Given the description of an element on the screen output the (x, y) to click on. 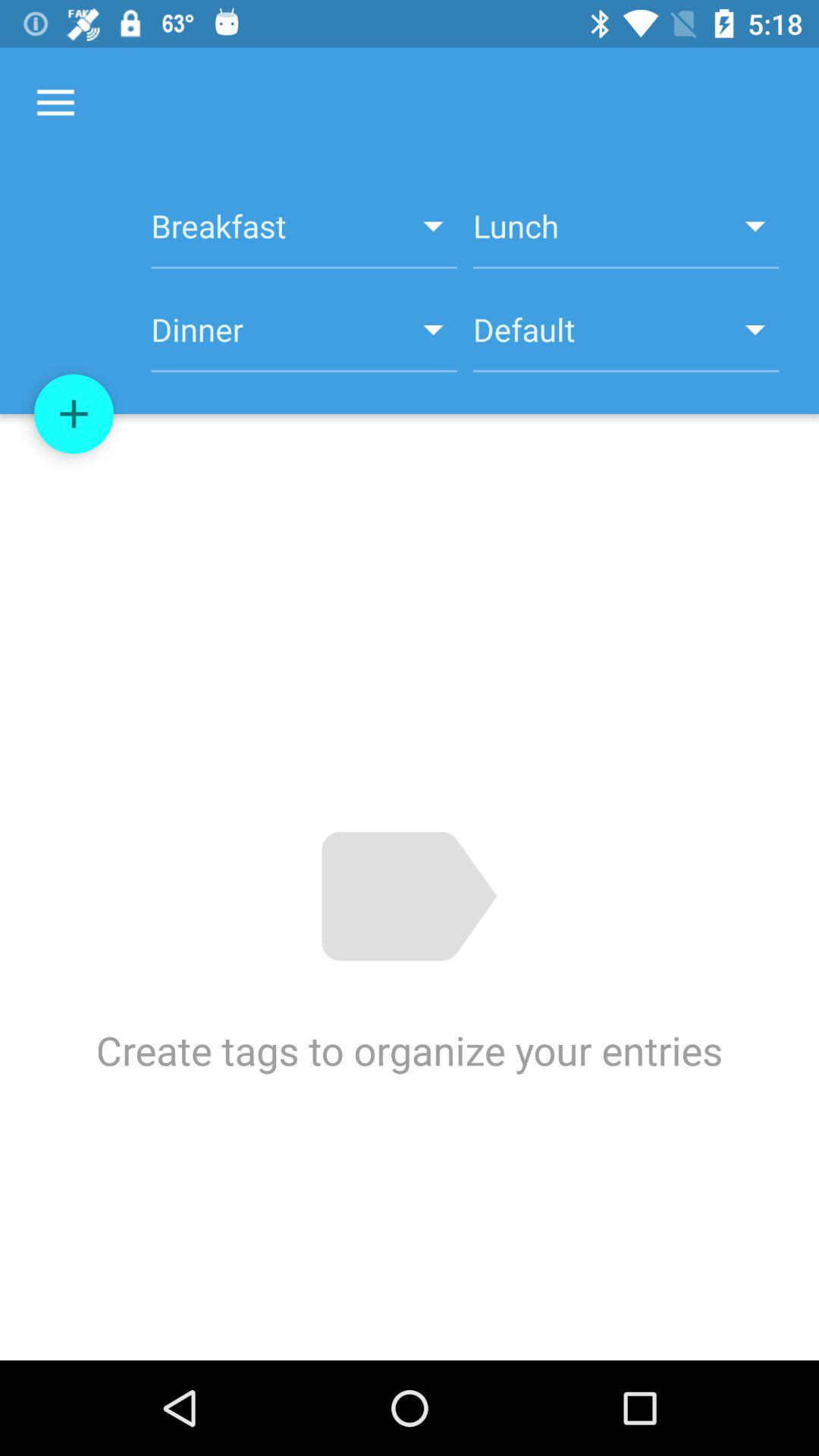
turn off item next to default icon (304, 338)
